Given the description of an element on the screen output the (x, y) to click on. 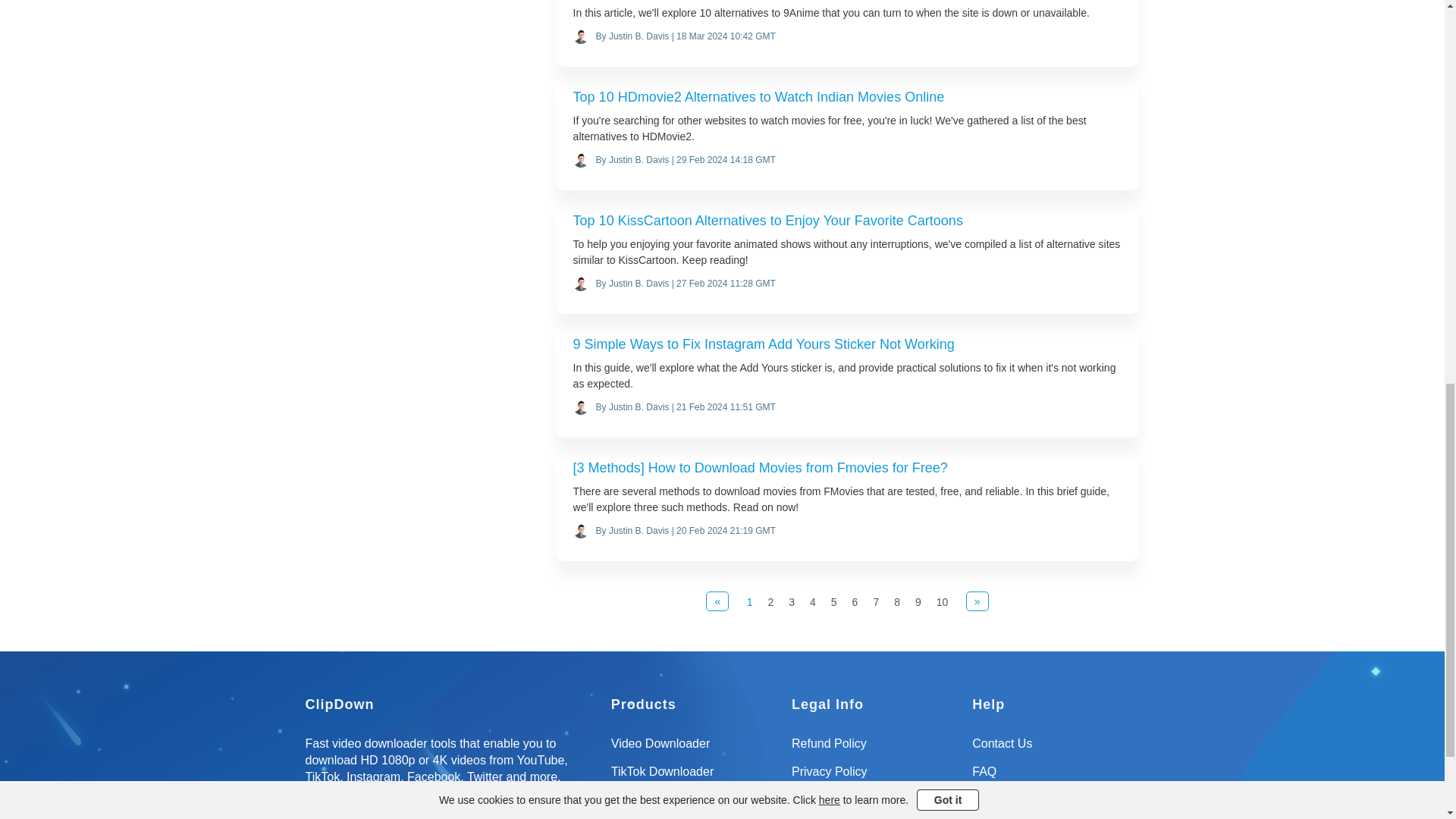
10 (942, 602)
Blog (1055, 805)
License Agreement (875, 805)
Refund Policy (875, 749)
FAQ (1055, 777)
Video Downloader (694, 749)
Privacy Policy (875, 777)
Contact Us (1055, 749)
TikTok Downloader (694, 777)
